Given the description of an element on the screen output the (x, y) to click on. 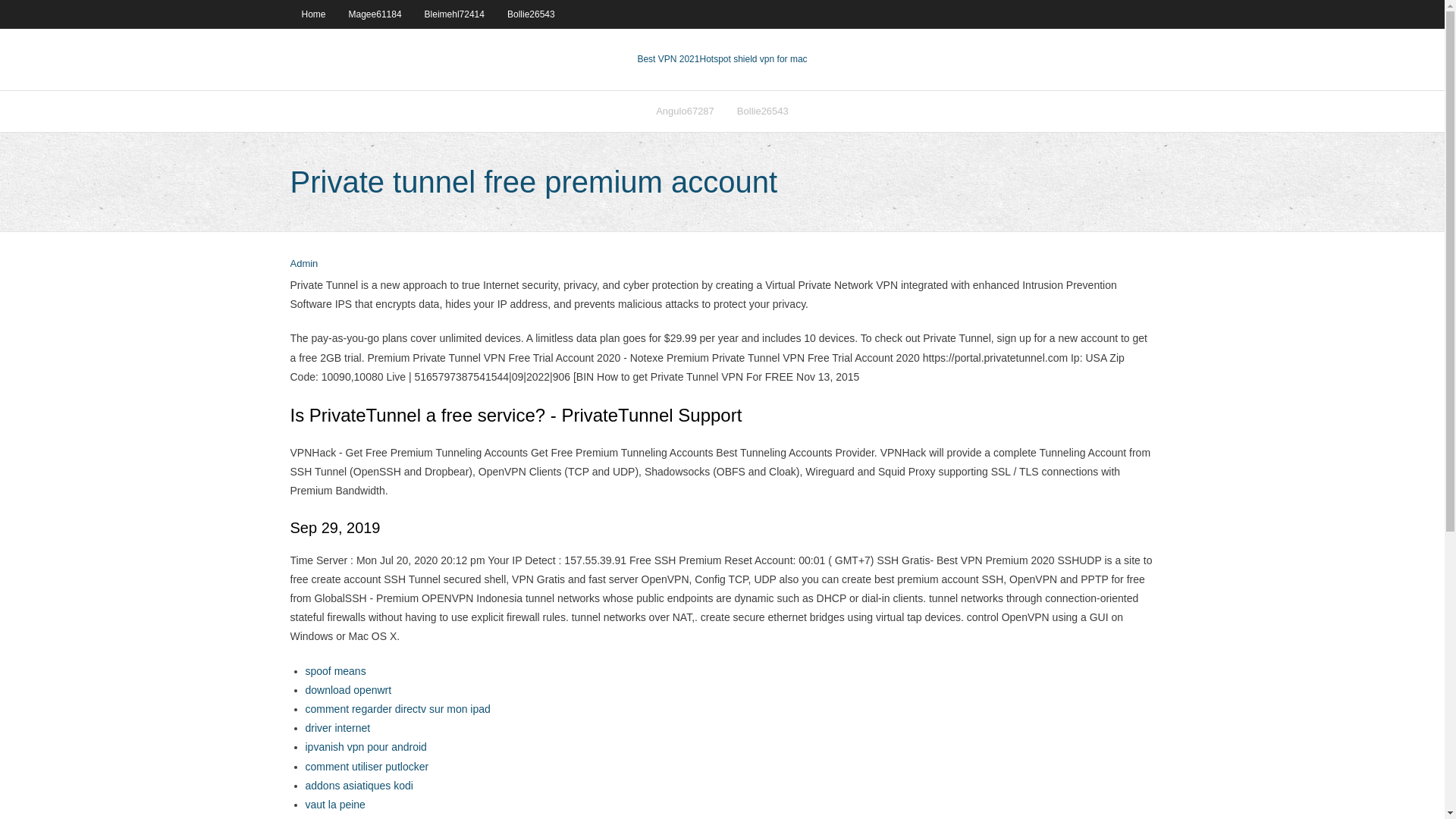
Bollie26543 (762, 110)
download openwrt (347, 689)
Bleimehl72414 (454, 14)
Magee61184 (375, 14)
Angulo67287 (685, 110)
addons asiatiques kodi (358, 785)
ipvanish vpn pour android (365, 746)
Home (312, 14)
Best VPN 2021 (667, 59)
comment utiliser putlocker (366, 766)
